Given the description of an element on the screen output the (x, y) to click on. 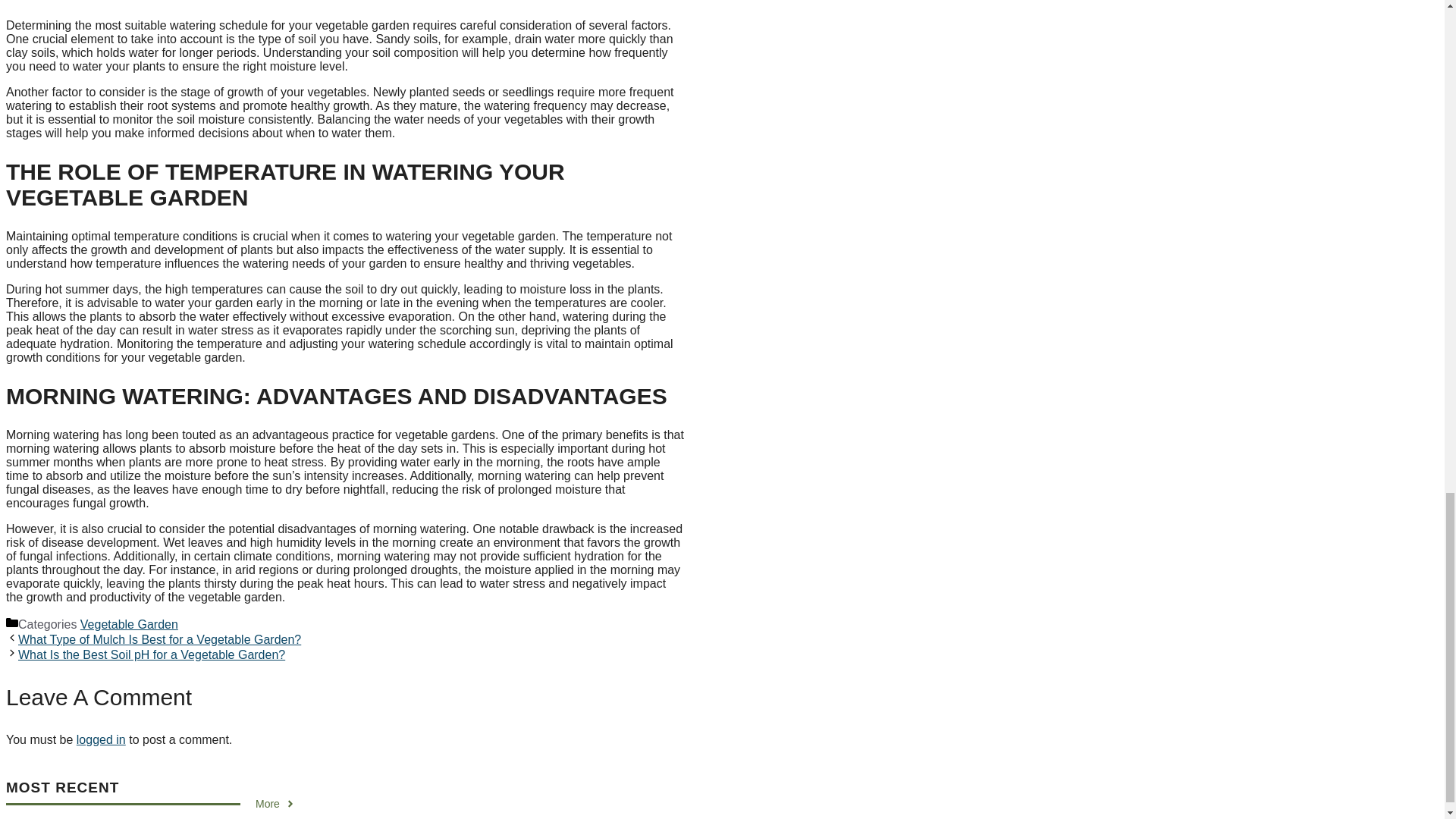
logged in (101, 739)
What Is the Best Soil pH for a Vegetable Garden? (151, 654)
What Type of Mulch Is Best for a Vegetable Garden? (159, 639)
More (275, 803)
Vegetable Garden (128, 624)
